Given the description of an element on the screen output the (x, y) to click on. 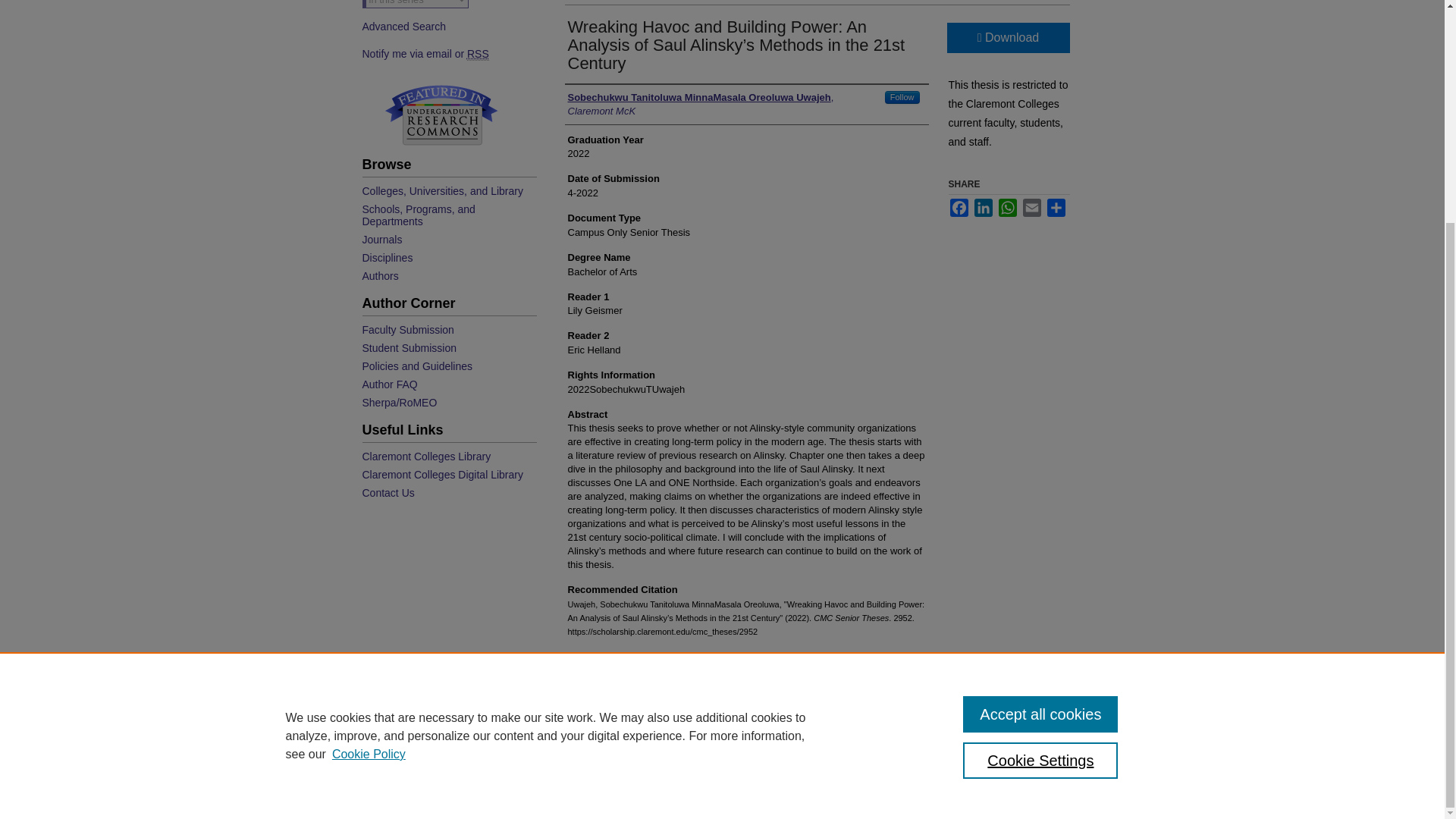
LinkedIn (982, 208)
Email (1031, 208)
Share (1055, 208)
Follow Sobechukwu Tanitoluwa MinnaMasala Oreoluwa Uwajeh (902, 97)
Follow (902, 97)
Undergraduate Research Commons (440, 114)
Undergraduate Research Commons (440, 114)
Browse by Schools, Programs, and Departments (447, 215)
Advanced Search (404, 26)
Journals (447, 239)
Notify me via email or RSS (447, 53)
Colleges, Universities, and Library (447, 191)
Disciplines (447, 257)
Email or RSS Notifications (447, 53)
